Given the description of an element on the screen output the (x, y) to click on. 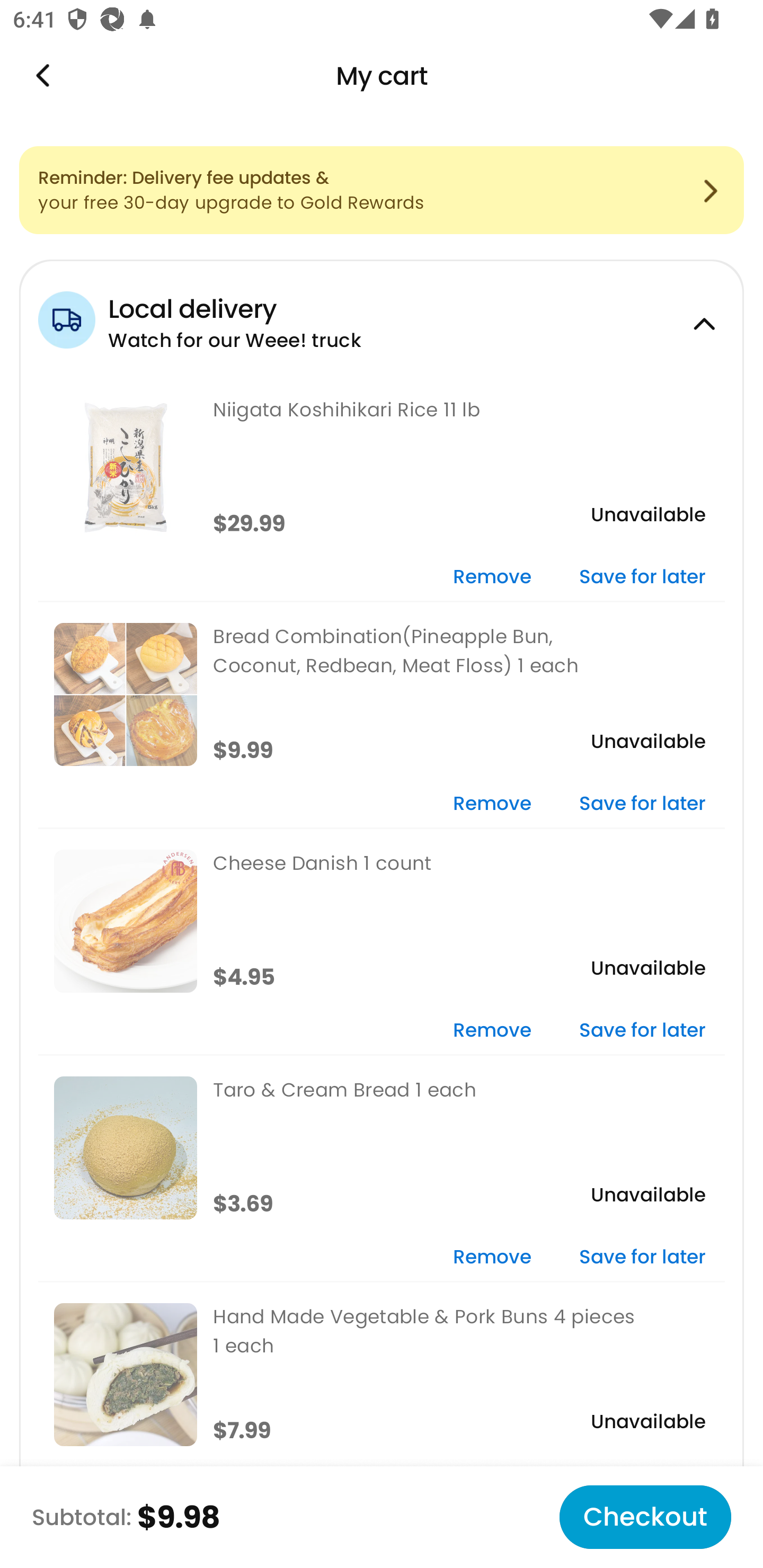
Local delivery Watch for our Weee! truck (381, 317)
Remove (491, 577)
Save for later (642, 577)
Remove (491, 804)
Save for later (642, 804)
Remove (491, 1030)
Save for later (642, 1030)
Remove (491, 1258)
Save for later (642, 1258)
Checkout (644, 1516)
